Given the description of an element on the screen output the (x, y) to click on. 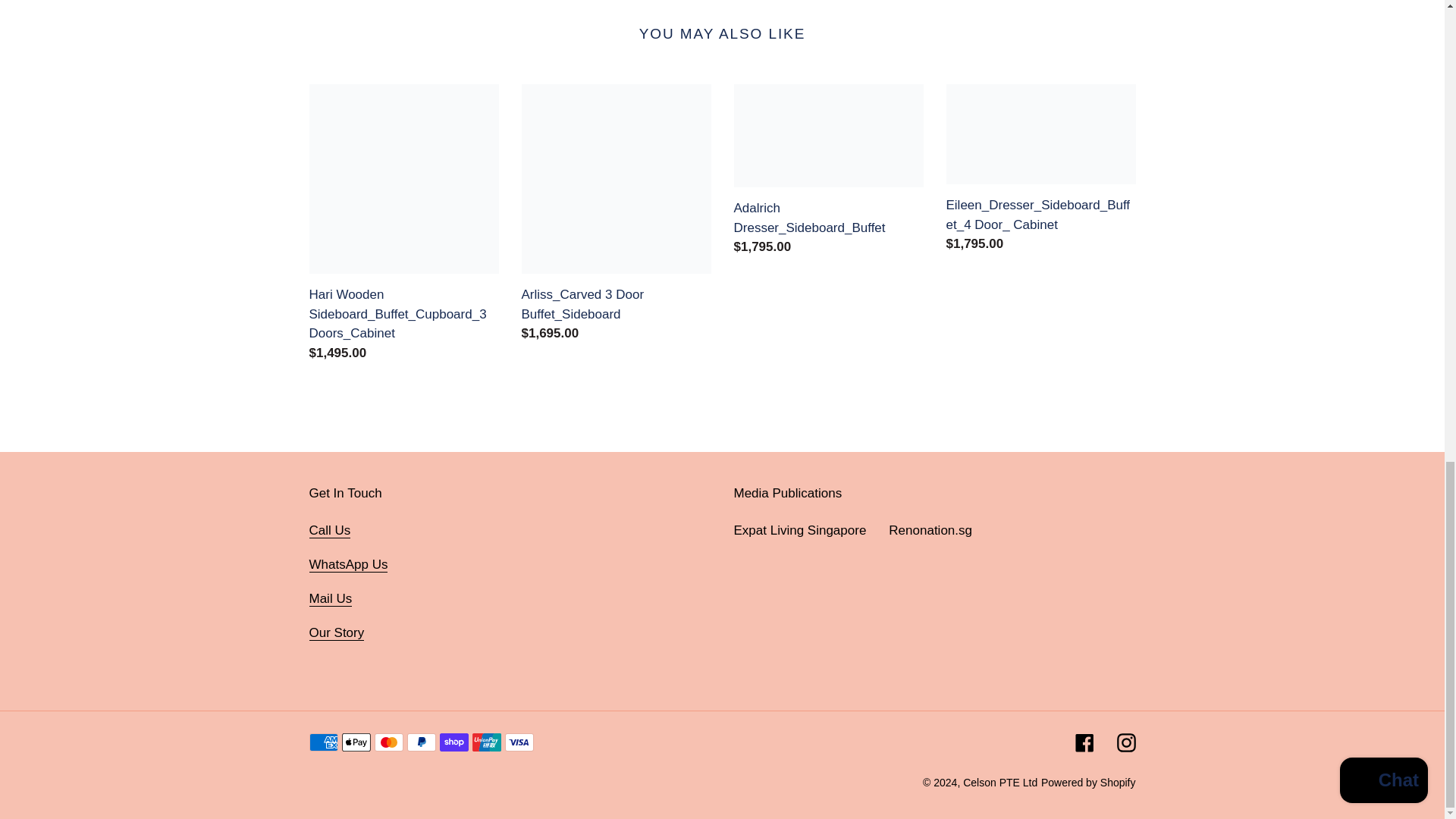
tel:6594521834 (329, 530)
